Given the description of an element on the screen output the (x, y) to click on. 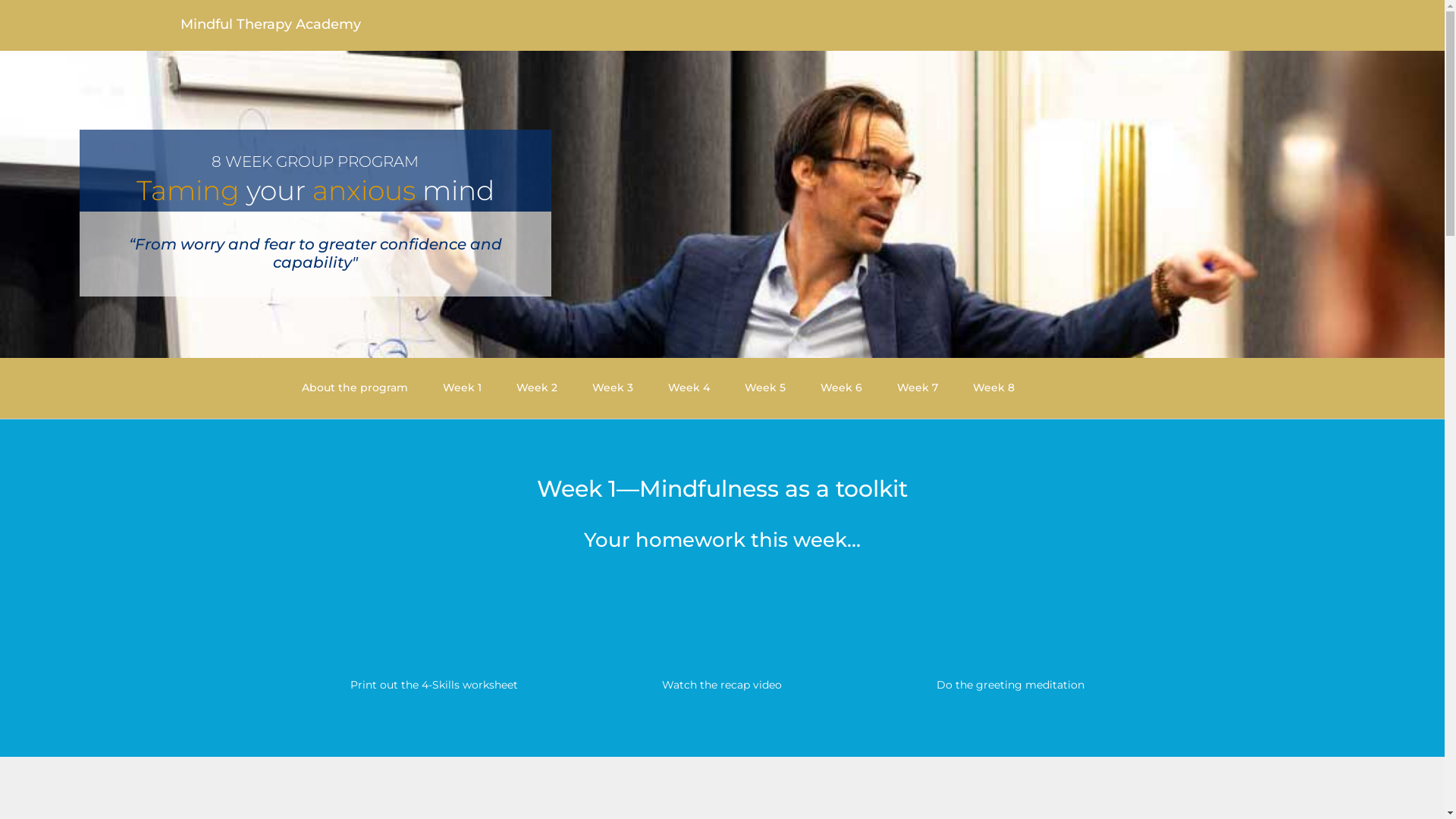
Week 5 Element type: text (765, 387)
Week 8 Element type: text (993, 387)
Week 1 Element type: text (462, 387)
Week 7 Element type: text (917, 387)
About the program Element type: text (354, 387)
Week 2 Element type: text (536, 387)
Week 4 Element type: text (688, 387)
Week 3 Element type: text (612, 387)
Week 6 Element type: text (840, 387)
